Given the description of an element on the screen output the (x, y) to click on. 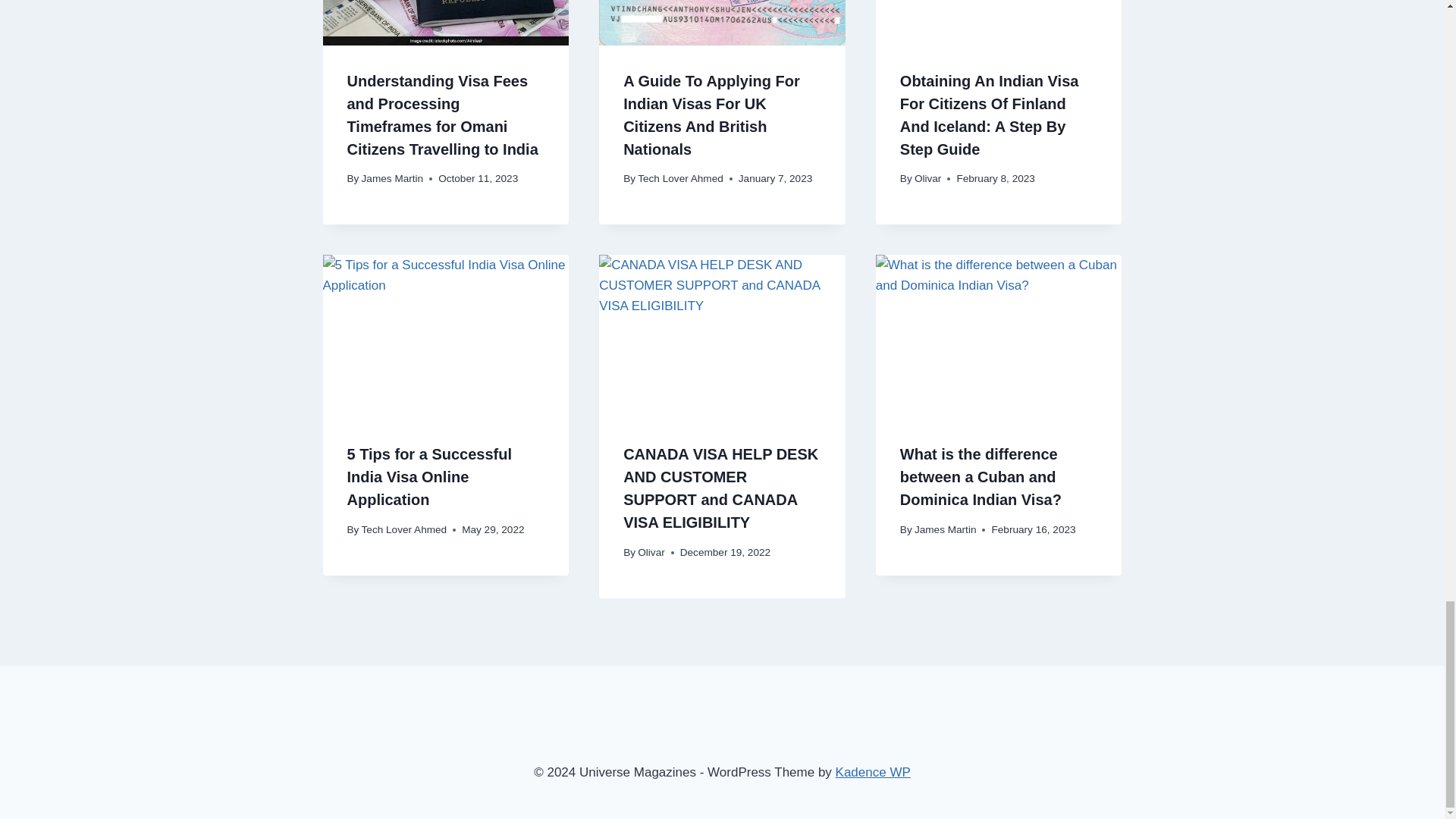
5 Tips for a Successful India Visa Online Application (429, 476)
Tech Lover Ahmed (403, 529)
Olivar (928, 178)
Tech Lover Ahmed (680, 178)
James Martin (392, 178)
